Given the description of an element on the screen output the (x, y) to click on. 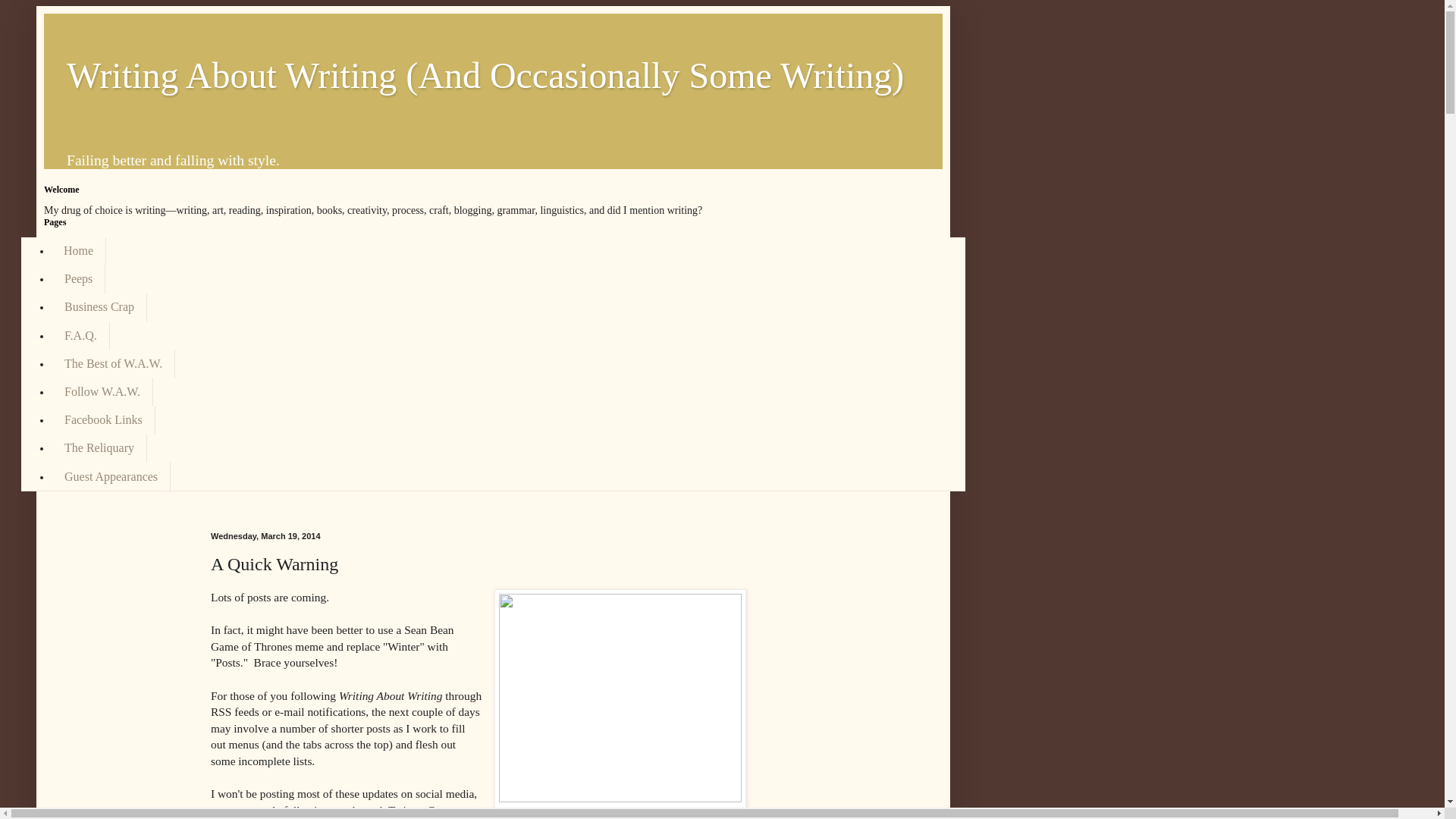
Peeps (77, 279)
Facebook Links (102, 420)
Follow W.A.W. (101, 391)
F.A.Q. (80, 335)
The Best of W.A.W. (112, 363)
Guest Appearances (110, 476)
The Reliquary (98, 448)
Business Crap (98, 307)
Home (78, 250)
